Given the description of an element on the screen output the (x, y) to click on. 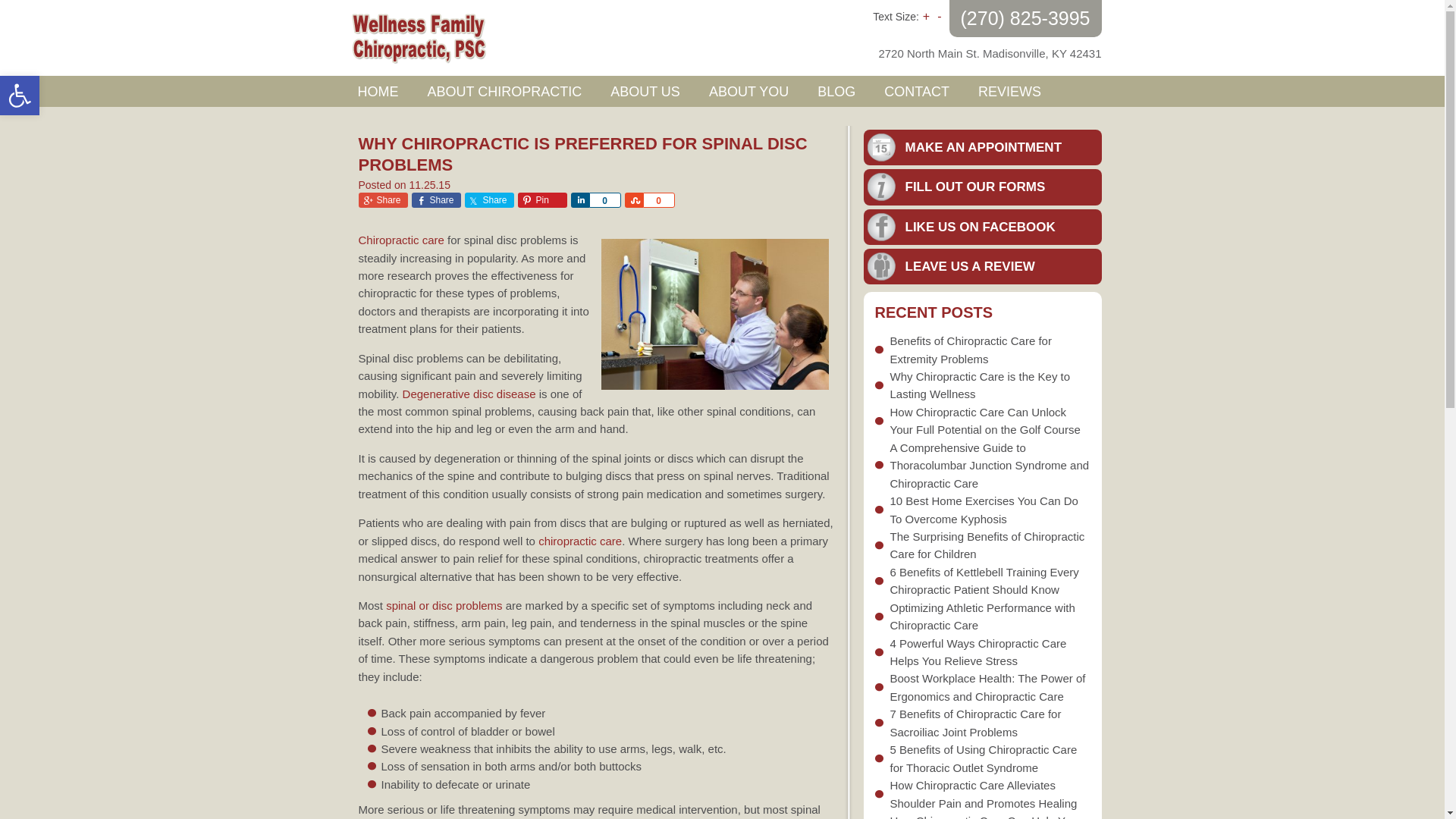
HOME (377, 91)
0 (659, 200)
- (19, 95)
Decrease Text (938, 15)
Grayscale (1009, 91)
Increase Text (488, 200)
Reset (604, 200)
